Given the description of an element on the screen output the (x, y) to click on. 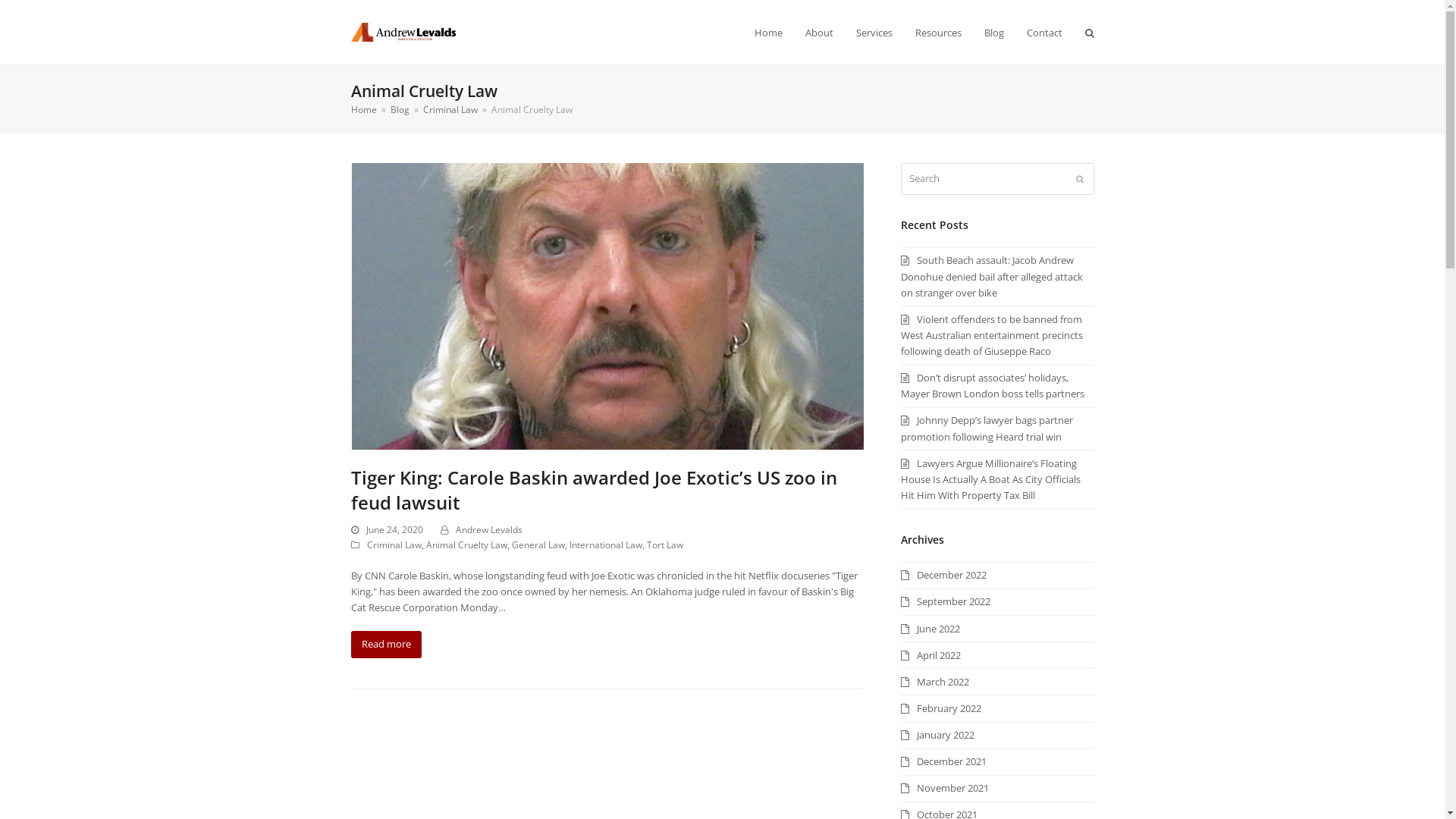
December 2021 Element type: text (943, 761)
December 2022 Element type: text (943, 574)
Services Element type: text (873, 32)
Contact Element type: text (1043, 32)
Home Element type: text (768, 32)
Blog Element type: text (993, 32)
September 2022 Element type: text (945, 601)
About Element type: text (818, 32)
Animal Cruelty Law Element type: text (466, 544)
General Law Element type: text (537, 544)
Read more Element type: text (385, 643)
Submit Element type: text (1078, 178)
Blog Element type: text (398, 109)
Criminal Law Element type: text (394, 544)
Home Element type: text (363, 109)
Criminal Law Element type: text (450, 109)
April 2022 Element type: text (930, 655)
Andrew Levalds Element type: text (488, 529)
International Law Element type: text (604, 544)
February 2022 Element type: text (940, 708)
June 2022 Element type: text (930, 628)
January 2022 Element type: text (937, 734)
Resources Element type: text (937, 32)
Tort Law Element type: text (664, 544)
November 2021 Element type: text (944, 787)
March 2022 Element type: text (934, 681)
